Given the description of an element on the screen output the (x, y) to click on. 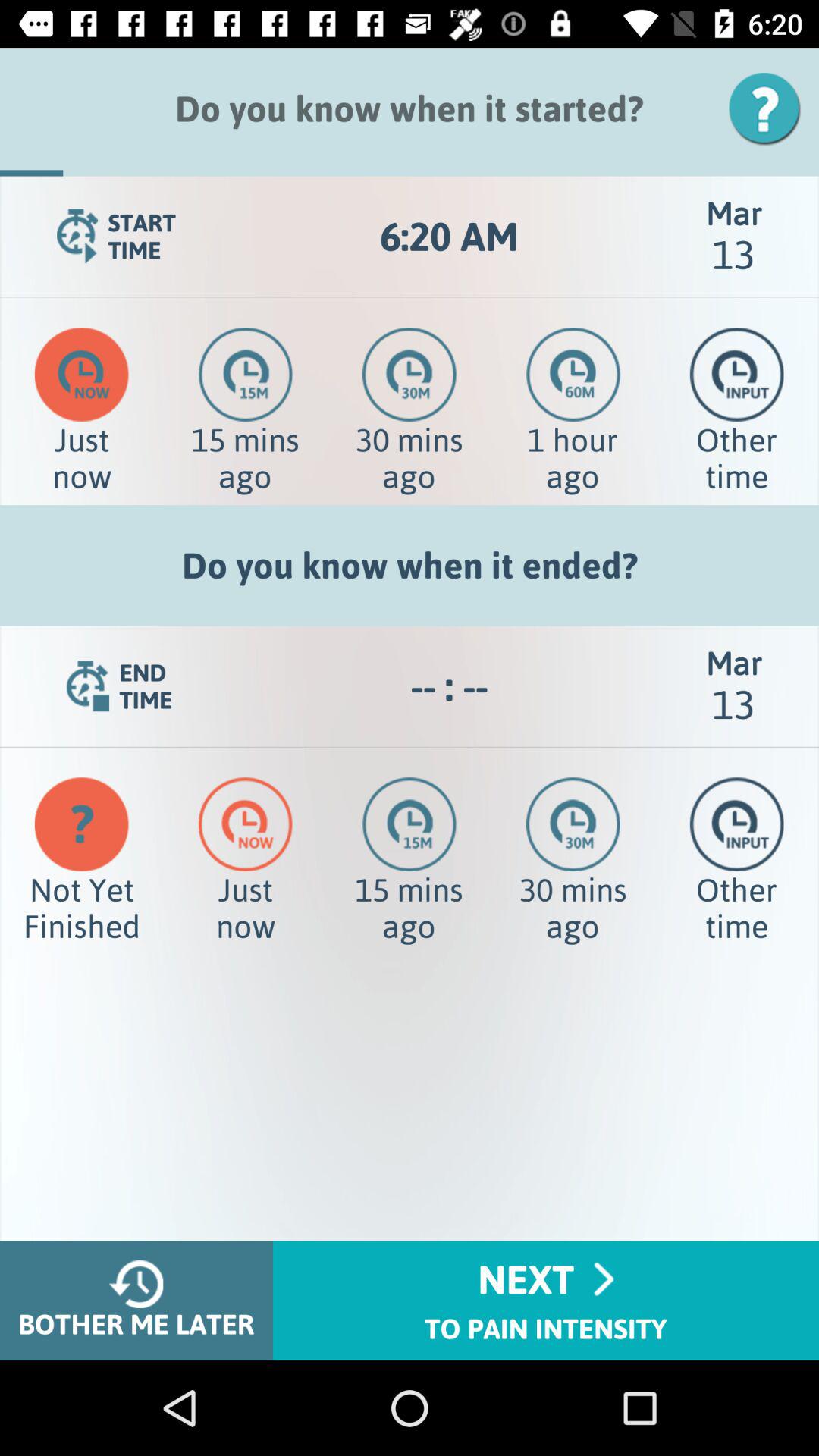
press item next to do you know app (769, 108)
